Given the description of an element on the screen output the (x, y) to click on. 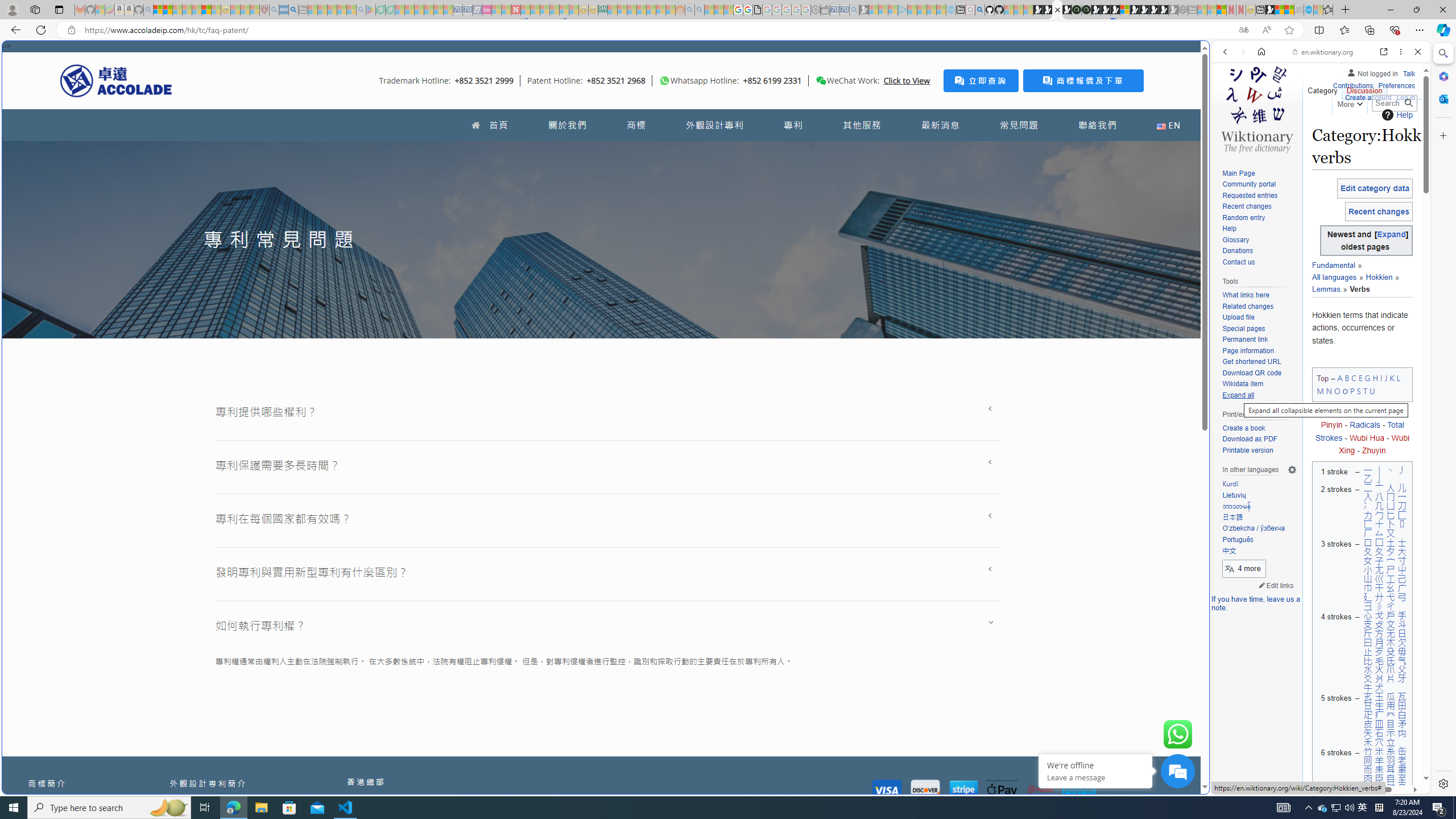
4 strokes (1334, 651)
Lemmas (1355, 282)
Visit the main page (1257, 108)
EN (1168, 124)
